Given the description of an element on the screen output the (x, y) to click on. 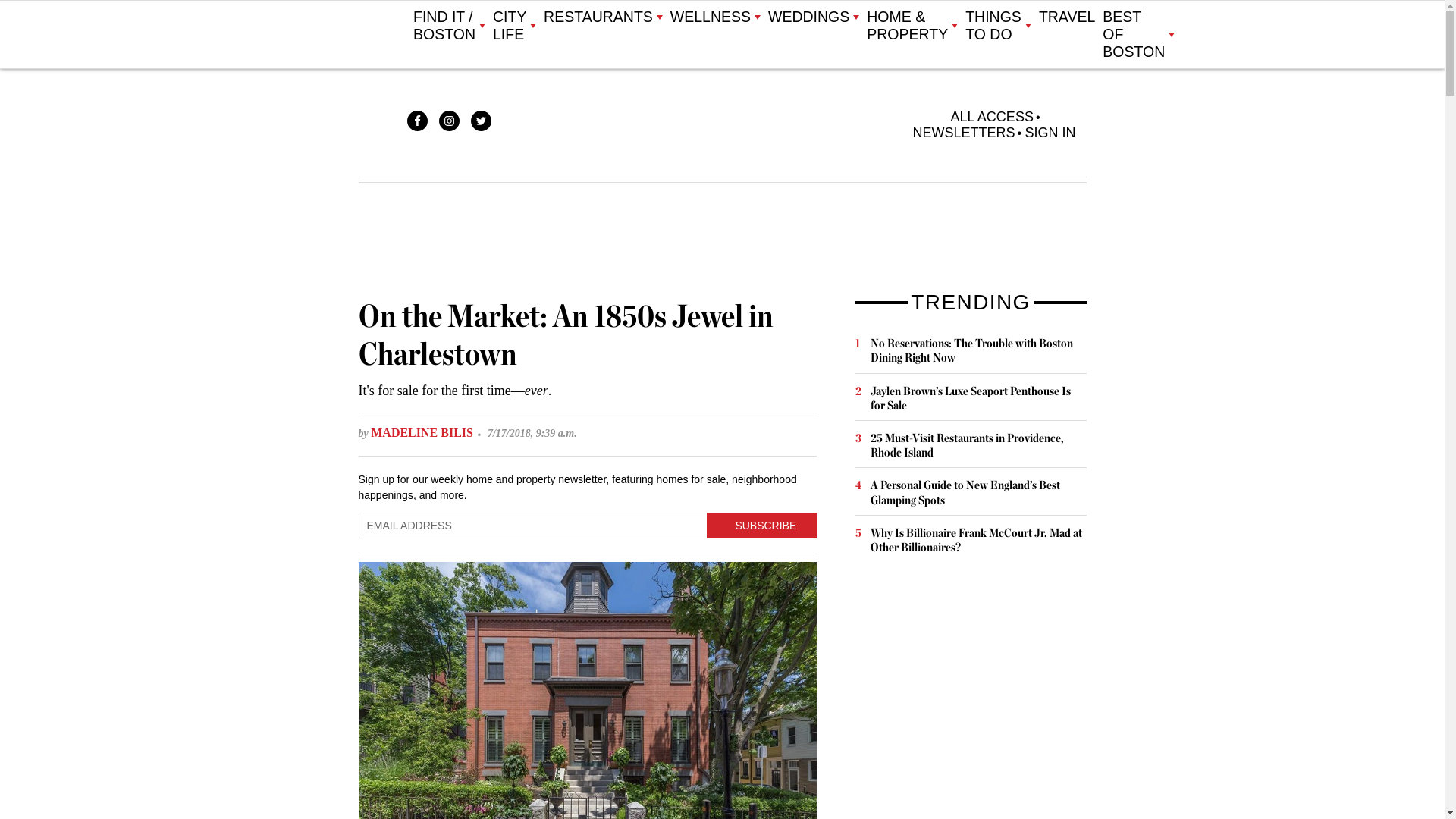
RESTAURANTS (602, 16)
THINGS TO DO (997, 25)
3rd party ad content (721, 239)
Subscribe (761, 525)
3rd party ad content (969, 698)
WEDDINGS (813, 16)
WELLNESS (714, 16)
